Given the description of an element on the screen output the (x, y) to click on. 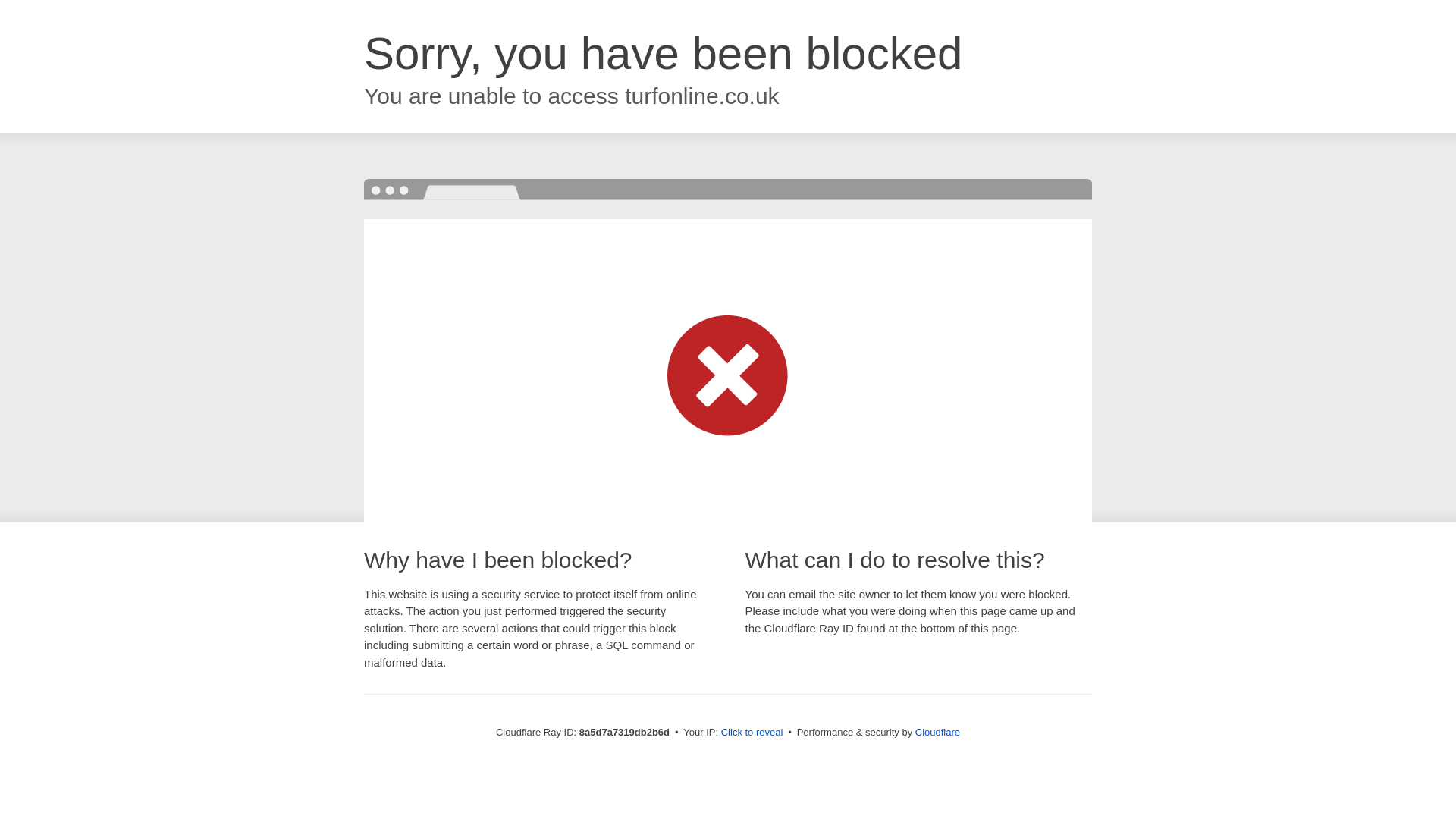
Cloudflare (937, 731)
Click to reveal (751, 732)
